Given the description of an element on the screen output the (x, y) to click on. 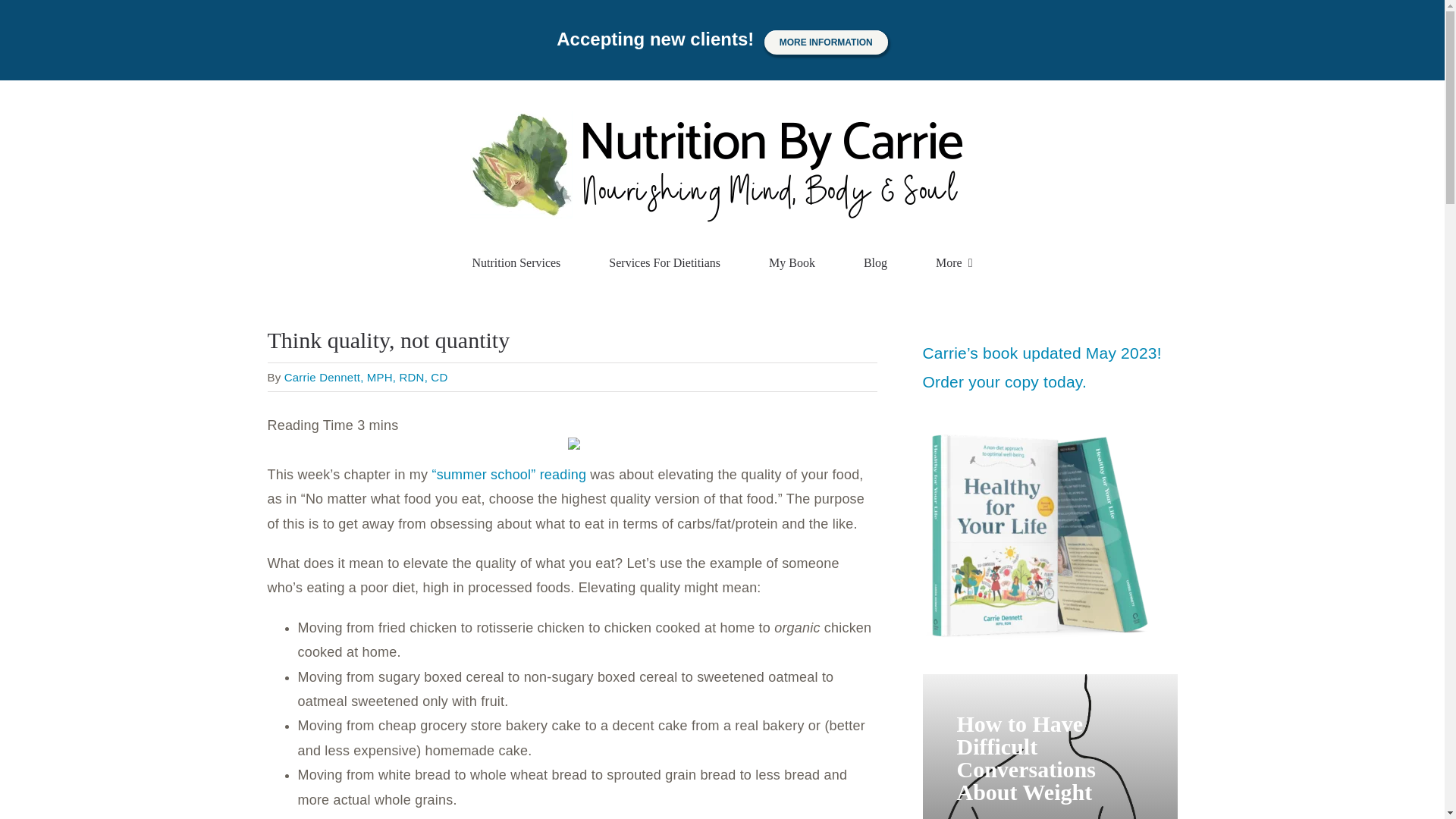
Carrie Dennett, MPH, RDN, CD (365, 377)
My Book (791, 263)
Posts by Carrie Dennett, MPH, RDN, CD (365, 377)
Nutrition Services (515, 263)
MORE INFORMATION (826, 42)
Services For Dietitians (664, 263)
